Given the description of an element on the screen output the (x, y) to click on. 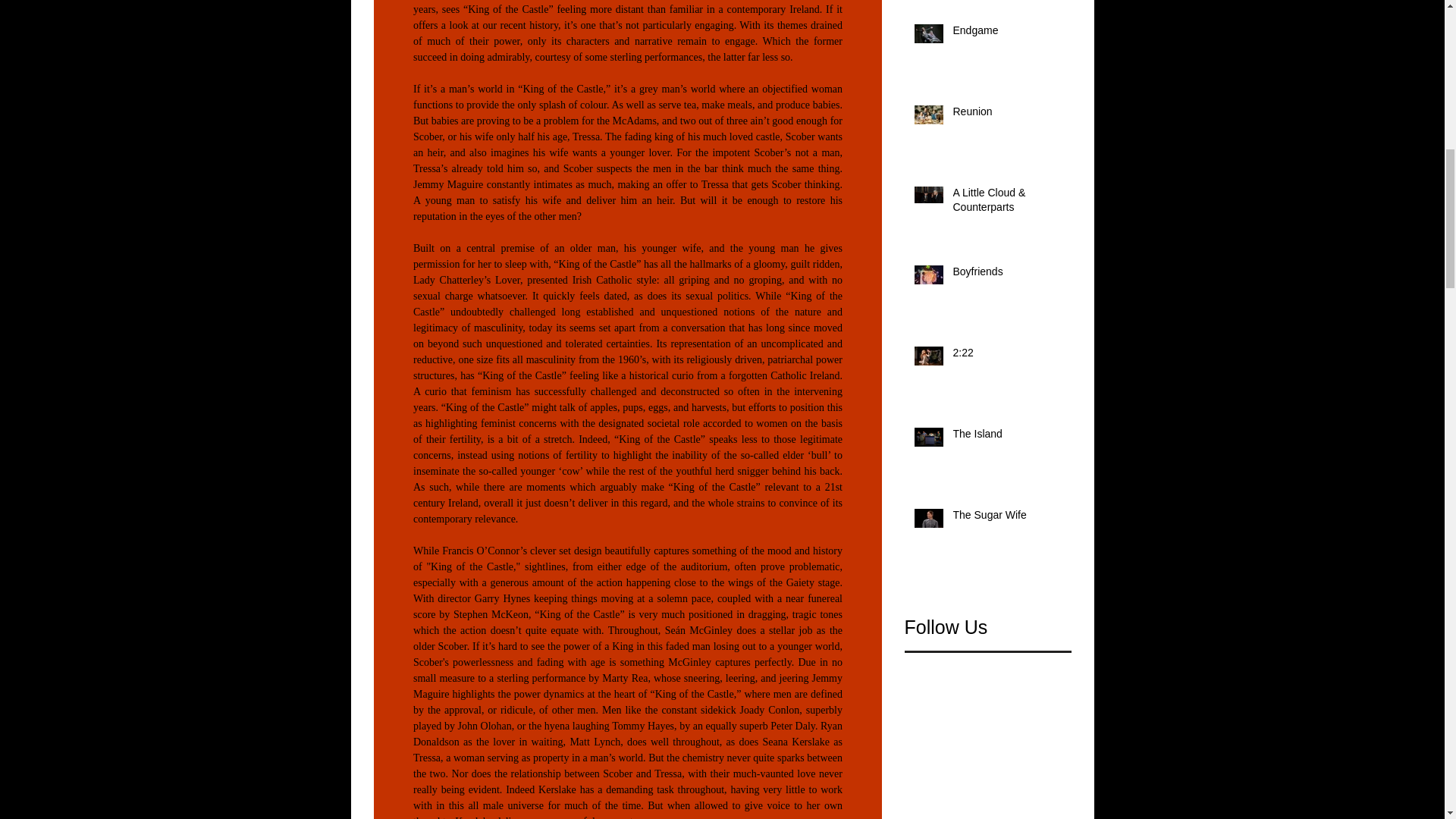
Endgame (1006, 34)
Reunion (1006, 115)
The Island (1006, 436)
The Sugar Wife (1006, 518)
2:22 (1006, 355)
Boyfriends (1006, 274)
